Given the description of an element on the screen output the (x, y) to click on. 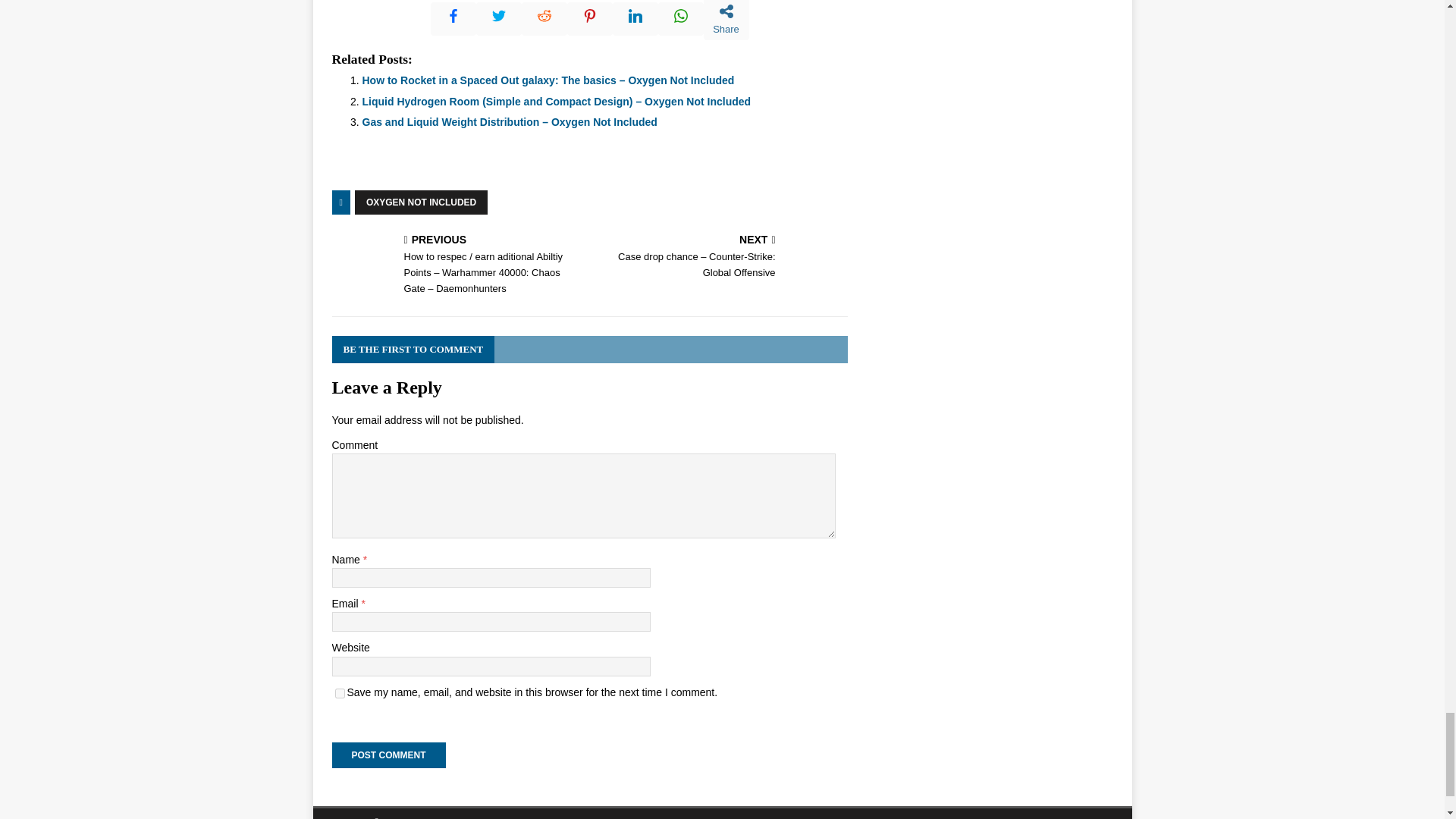
Share (726, 20)
yes (339, 693)
OXYGEN NOT INCLUDED (421, 202)
Post Comment (388, 755)
Post Comment (388, 755)
